Given the description of an element on the screen output the (x, y) to click on. 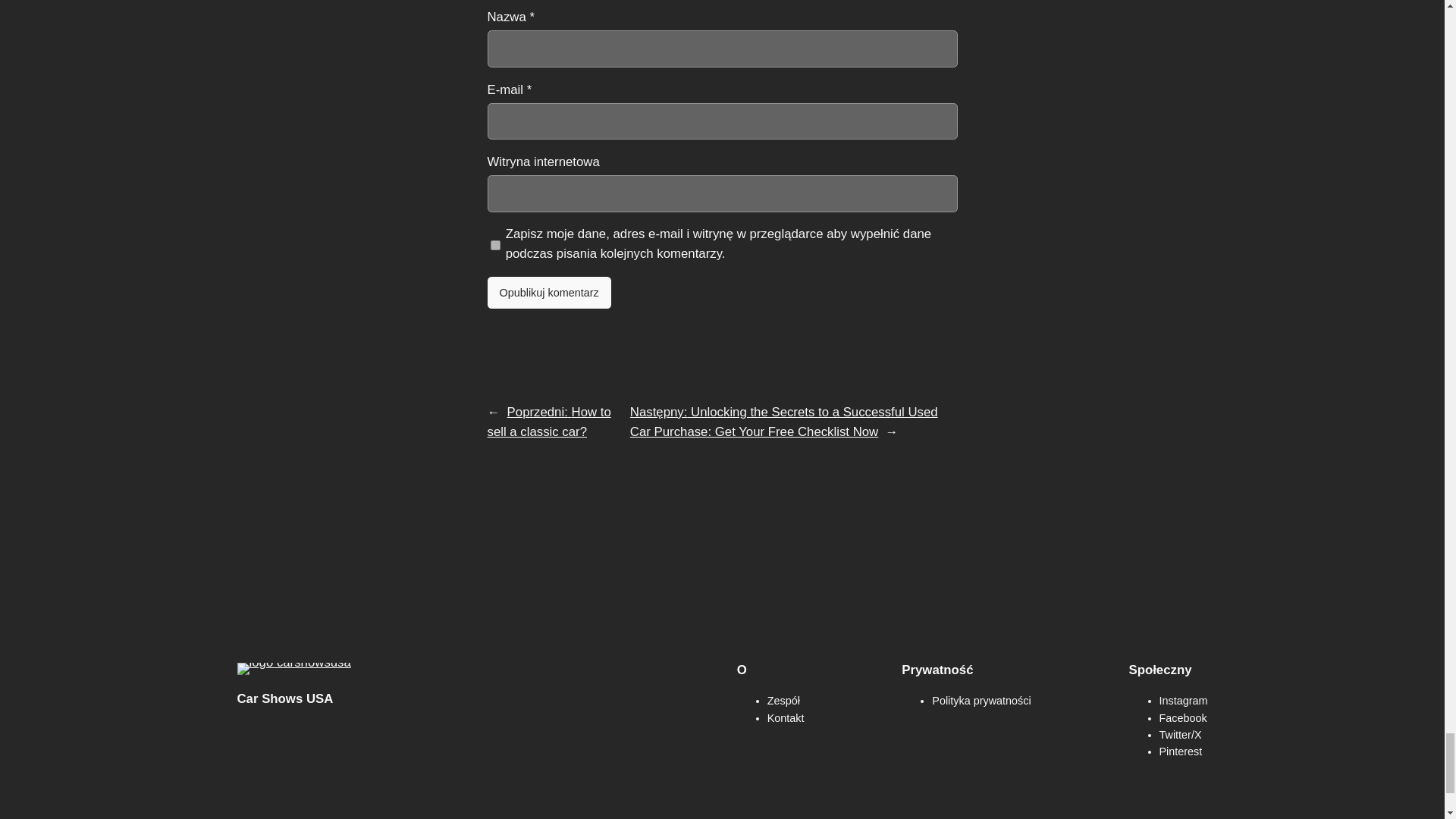
Opublikuj komentarz (548, 292)
Instagram (1182, 700)
Opublikuj komentarz (548, 292)
Car Shows USA (284, 698)
Poprzedni: How to sell a classic car? (548, 421)
Pinterest (1180, 751)
Kontakt (786, 717)
Facebook (1182, 717)
